Given the description of an element on the screen output the (x, y) to click on. 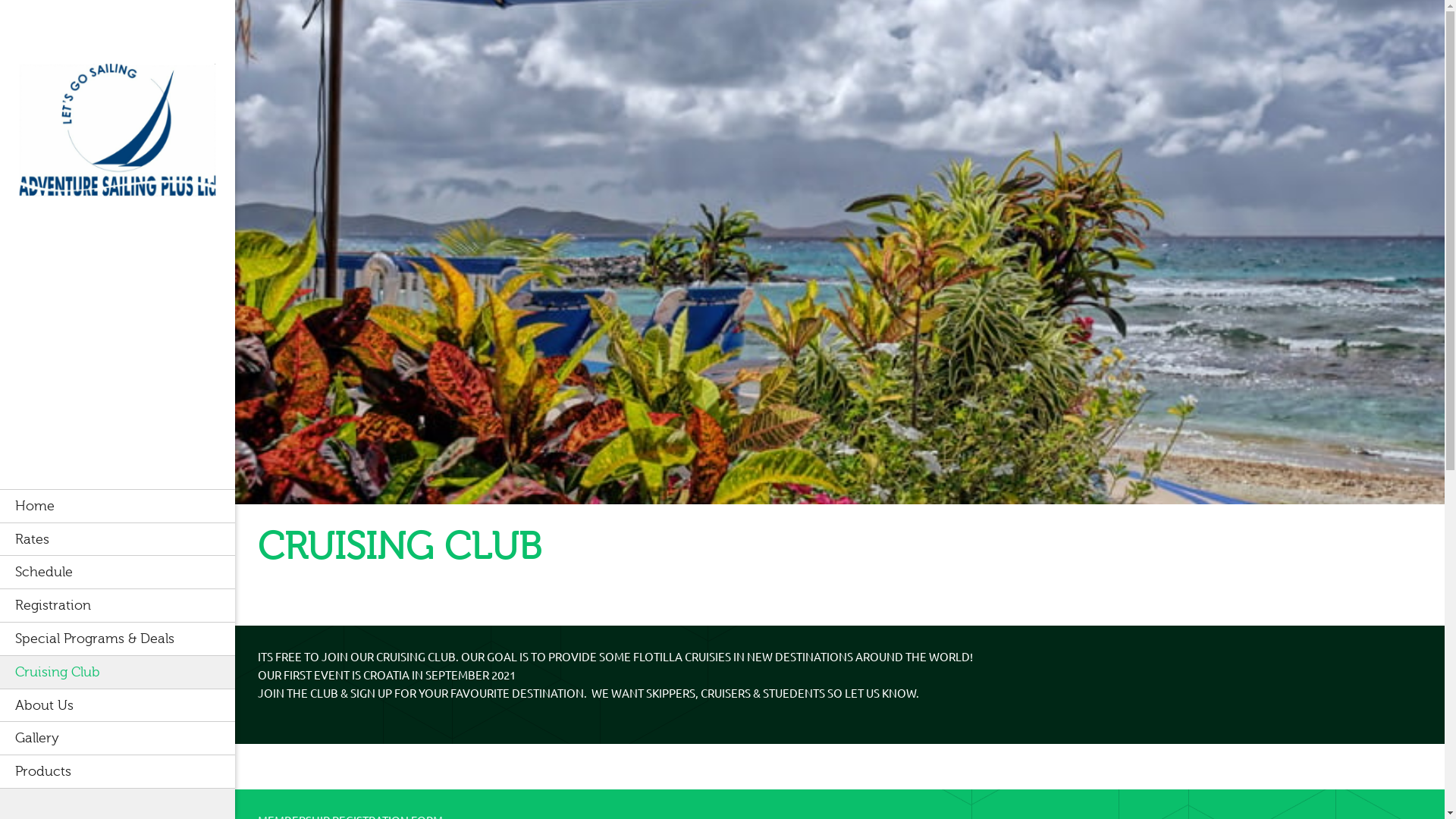
Gallery Element type: text (117, 737)
Cruising Club Element type: text (117, 671)
Go to site home page Element type: hover (117, 132)
Home Element type: text (117, 505)
About Us Element type: text (117, 704)
Rates Element type: text (117, 538)
Registration Element type: text (117, 604)
Special Programs & Deals Element type: text (117, 638)
Schedule Element type: text (117, 571)
Products Element type: text (117, 771)
Go to site home page Element type: hover (117, 137)
